Given the description of an element on the screen output the (x, y) to click on. 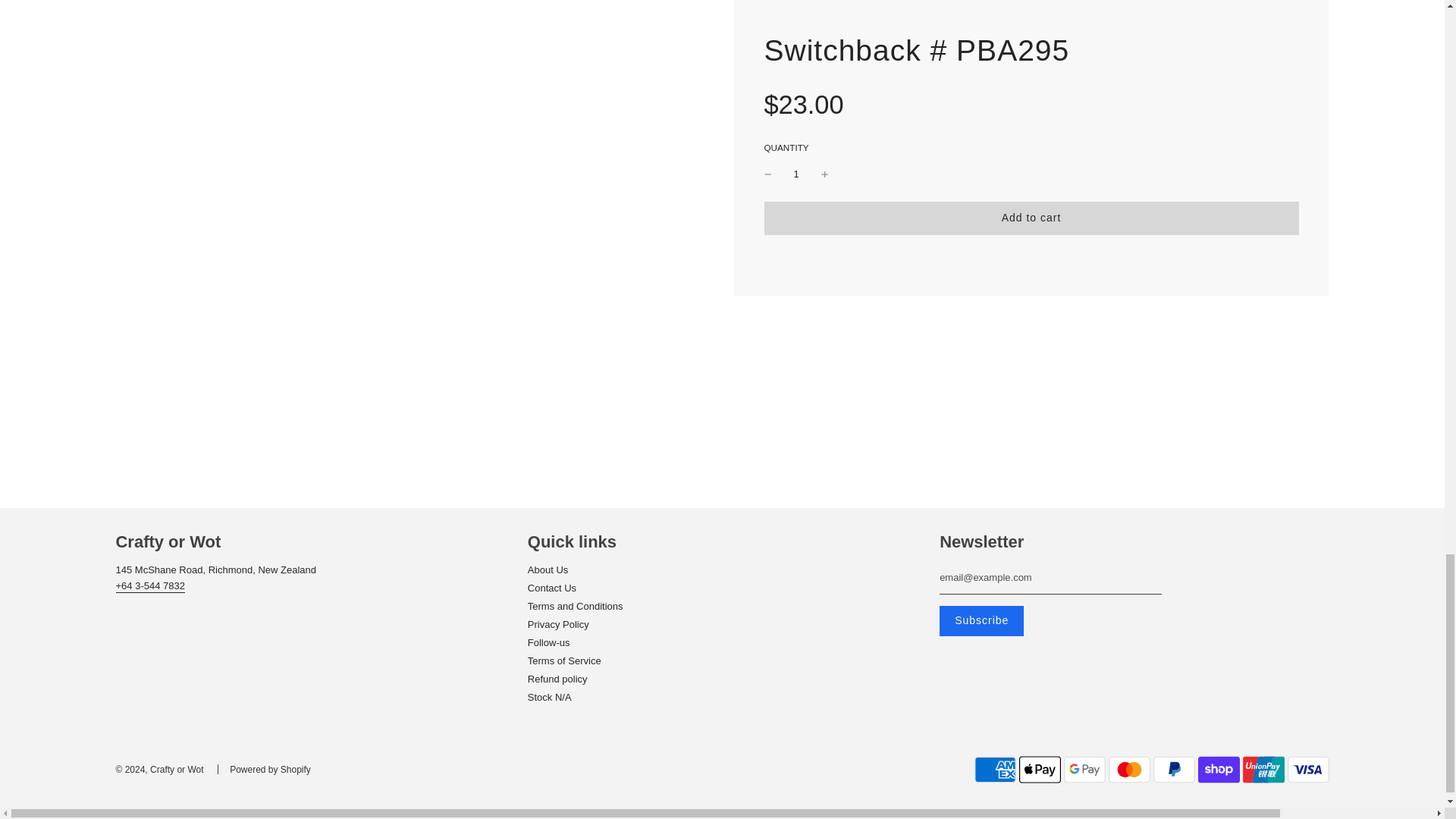
Subscribe (981, 621)
